Given the description of an element on the screen output the (x, y) to click on. 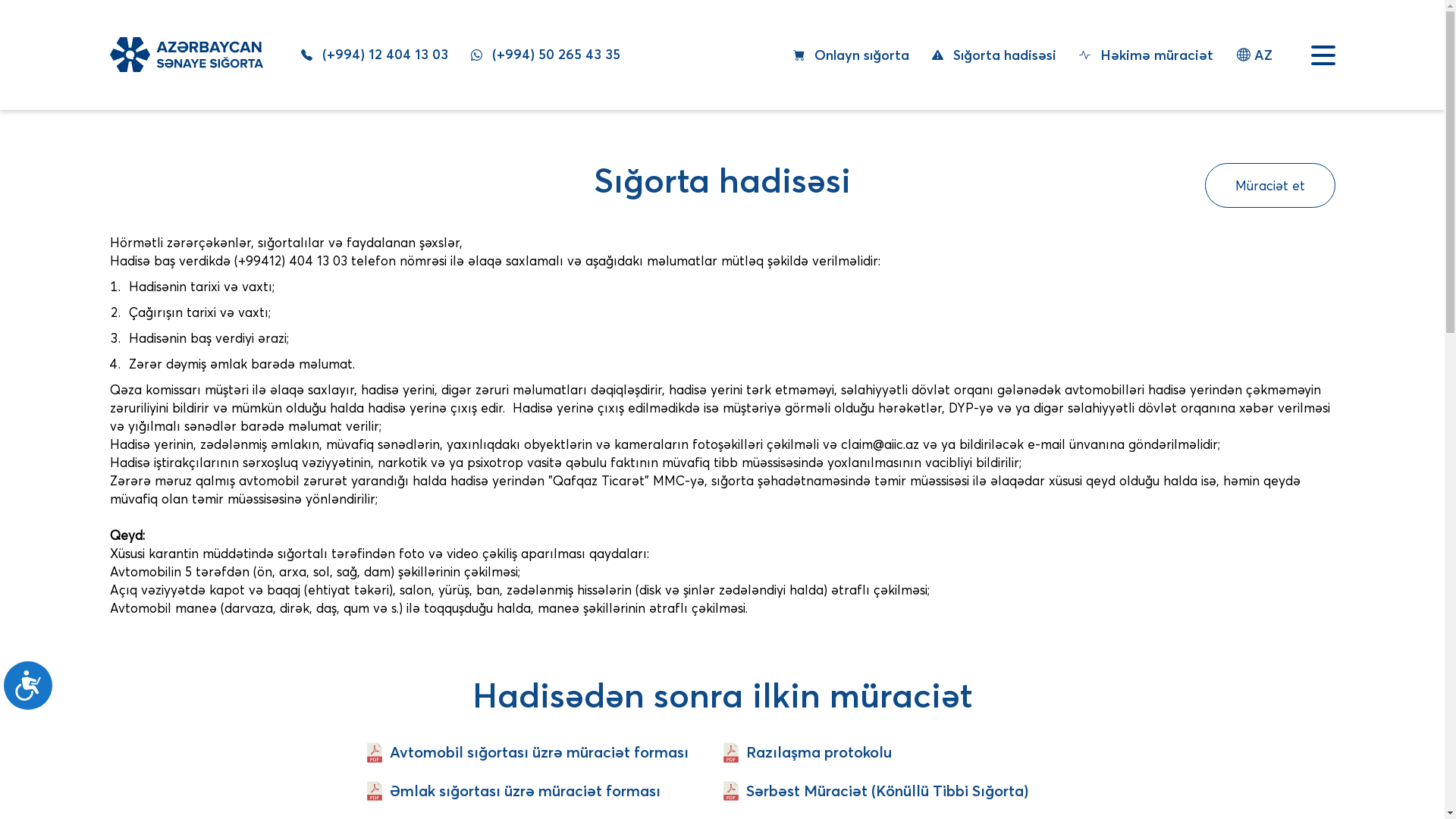
(+994) 12 404 13 03 Element type: text (373, 54)
AZ Element type: text (1254, 54)
(+994) 50 265 43 35 Element type: text (544, 54)
Accessibility Element type: text (33, 691)
